Given the description of an element on the screen output the (x, y) to click on. 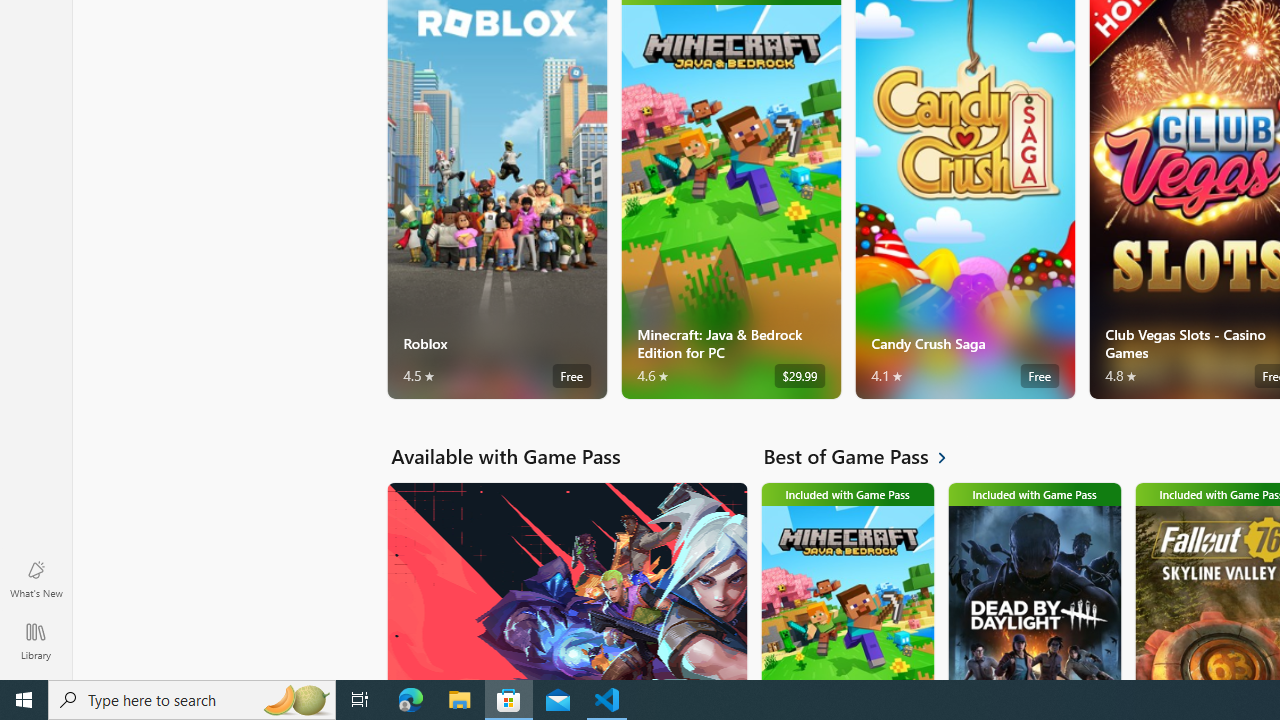
Library (35, 640)
See all  Best of Game Pass (866, 455)
What's New (35, 578)
Available with Game Pass. VALORANT (566, 580)
